Given the description of an element on the screen output the (x, y) to click on. 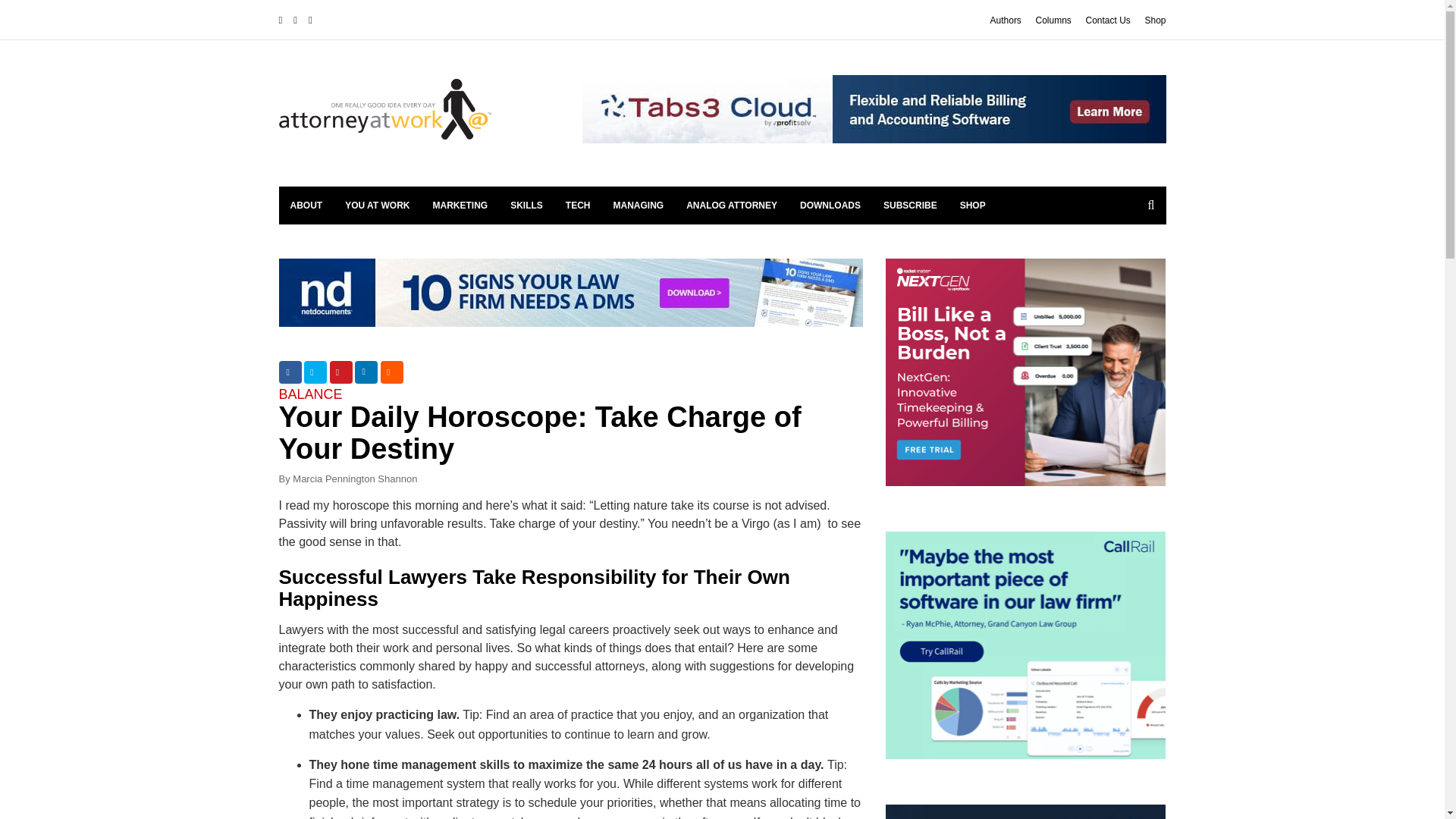
ABOUT (306, 205)
MARKETING (460, 205)
SKILLS (526, 205)
MANAGING (638, 205)
You At Work (376, 205)
Authors (1006, 20)
Columns (1053, 20)
Shop (1155, 20)
TECH (578, 205)
YOU AT WORK (376, 205)
